Given the description of an element on the screen output the (x, y) to click on. 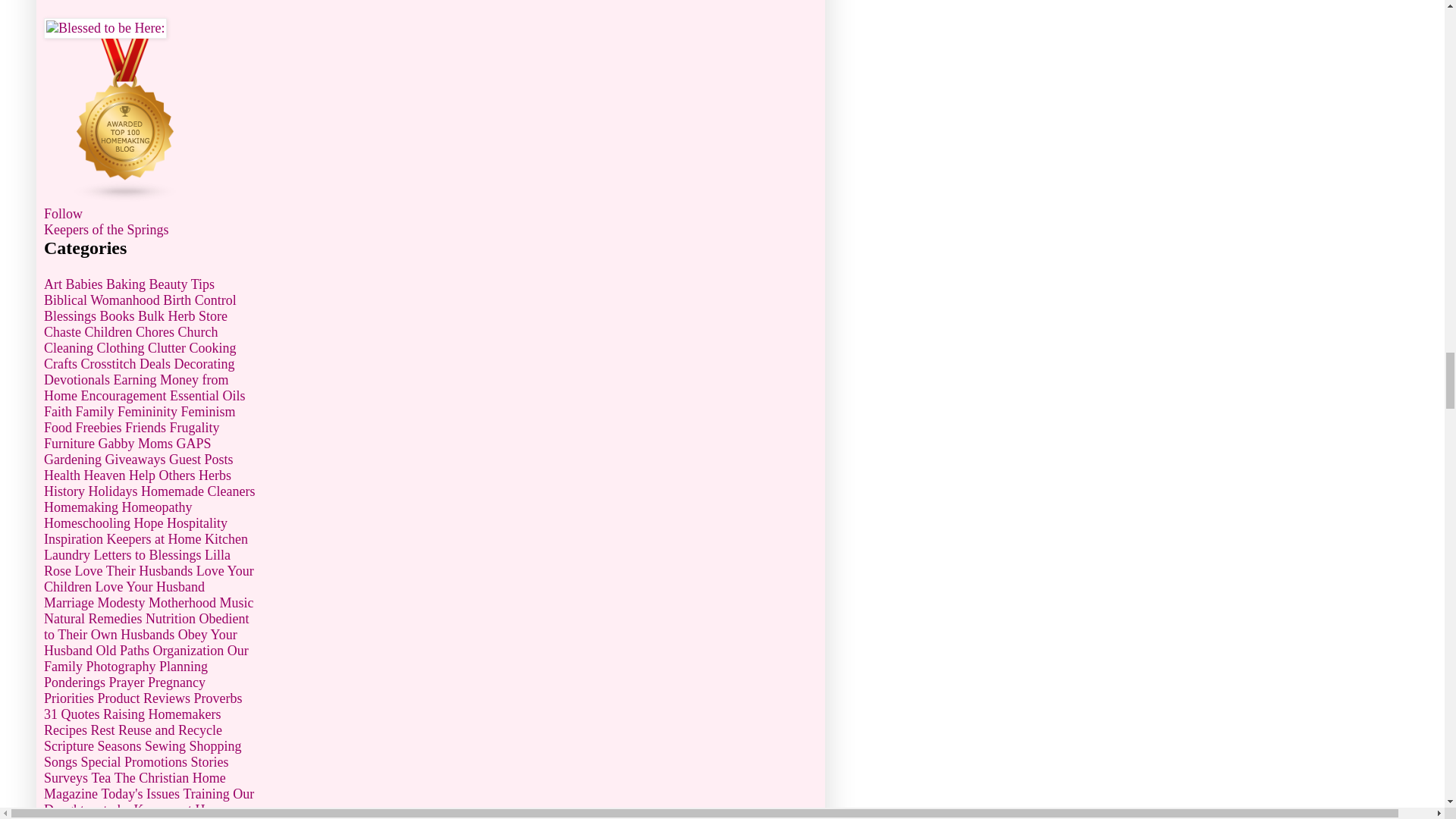
Homemaking blogs (125, 197)
